Given the description of an element on the screen output the (x, y) to click on. 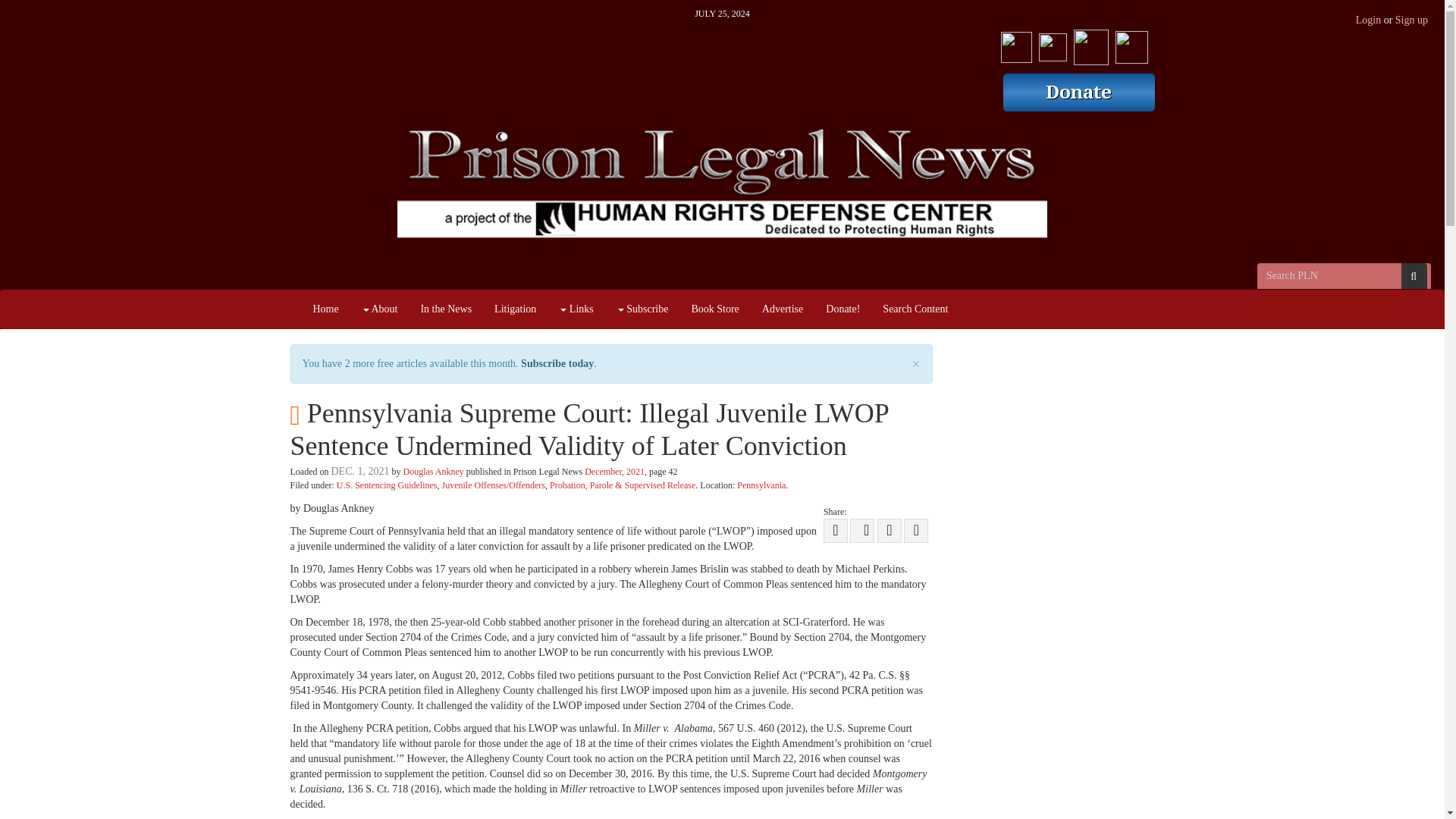
Links (575, 309)
Litigation (515, 309)
December, 2021 (615, 471)
In the News (446, 309)
Subscribe (642, 309)
Douglas Ankney (433, 471)
About (379, 309)
Paul Wright's LinkedIn Page (1131, 44)
Book Store (714, 309)
Search (1413, 275)
Prison Legal News FaceBook Page (1016, 44)
Sign up (1411, 19)
Donate! (841, 309)
Advertise (782, 309)
Subscribe today (557, 363)
